Given the description of an element on the screen output the (x, y) to click on. 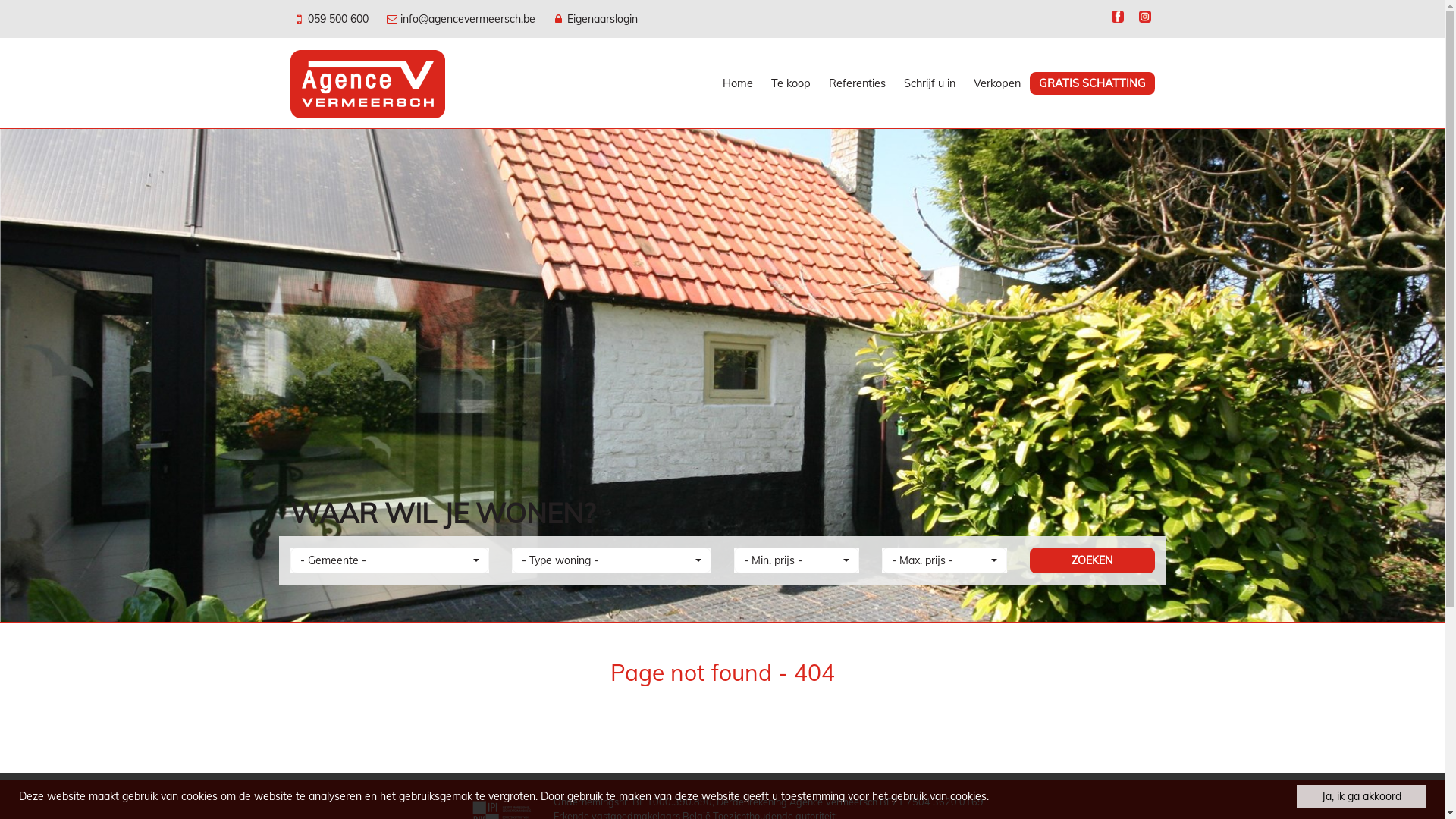
- Type woning -
  Element type: text (611, 560)
059 500 600 Element type: text (331, 18)
GRATIS SCHATTING Element type: text (1091, 83)
Te koop Element type: text (790, 83)
- Min. prijs -
  Element type: text (796, 560)
Schrijf u in Element type: text (929, 83)
Home Element type: text (736, 83)
Agence Vermeersch Element type: hover (367, 82)
- Gemeente -
  Element type: text (389, 560)
- Max. prijs -
  Element type: text (943, 560)
Verkopen Element type: text (996, 83)
info@agencevermeersch.be Element type: text (461, 18)
Facebook Element type: hover (1116, 18)
ZOEKEN Element type: text (1091, 560)
Eigenaarslogin Element type: text (594, 18)
Referenties Element type: text (856, 83)
Instagram Element type: hover (1144, 18)
